Given the description of an element on the screen output the (x, y) to click on. 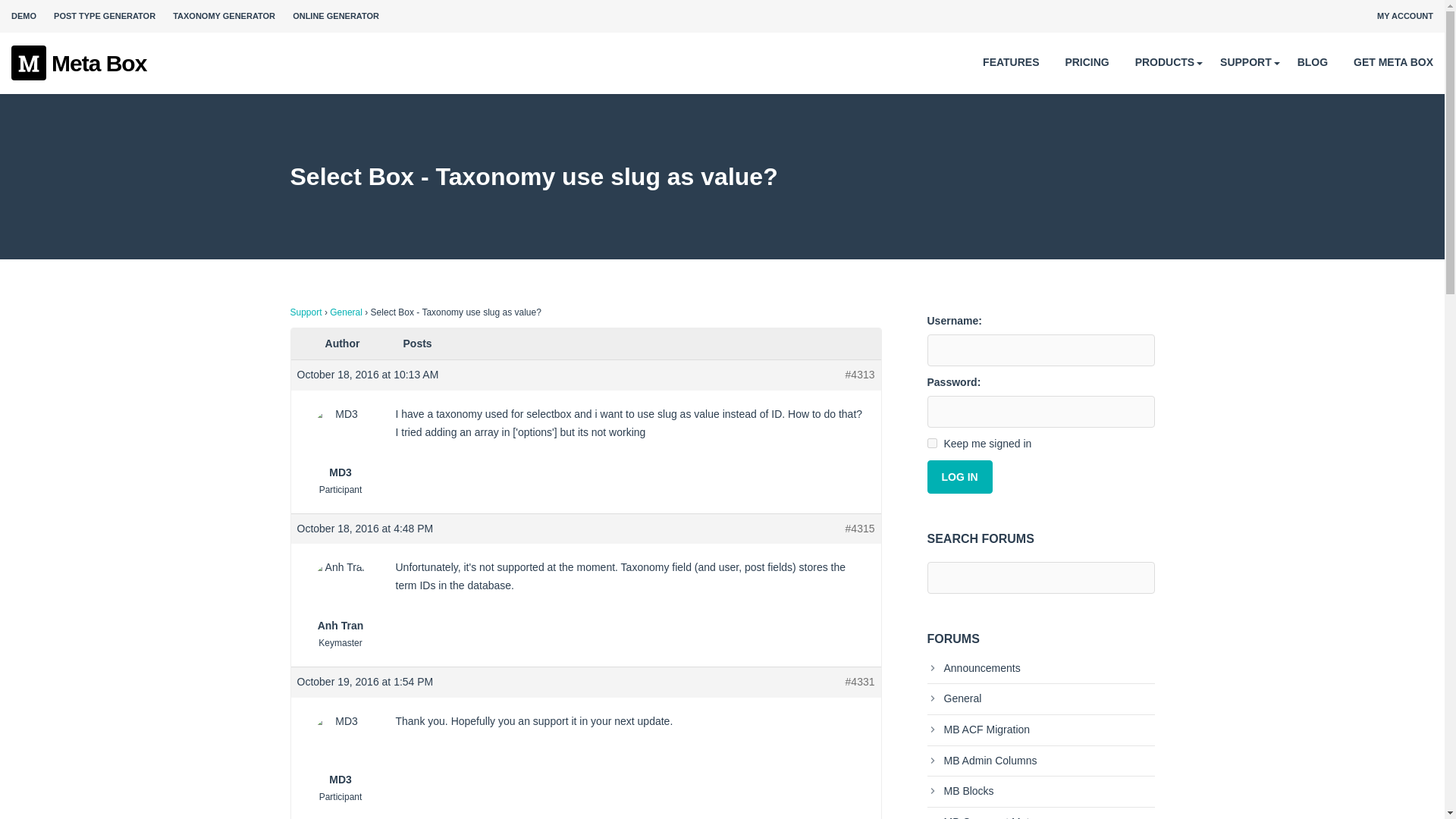
SUPPORT (1245, 62)
PRODUCTS (1165, 62)
Meta Box (79, 63)
View MD3's profile (340, 749)
MY ACCOUNT (1404, 15)
Anh Tran (340, 596)
LOG IN (958, 476)
forever (931, 442)
BLOG (1312, 62)
GET META BOX (1393, 62)
DEMO (23, 15)
PRICING (1086, 62)
TAXONOMY GENERATOR (224, 15)
View MD3's profile (340, 442)
MD3 (340, 749)
